Given the description of an element on the screen output the (x, y) to click on. 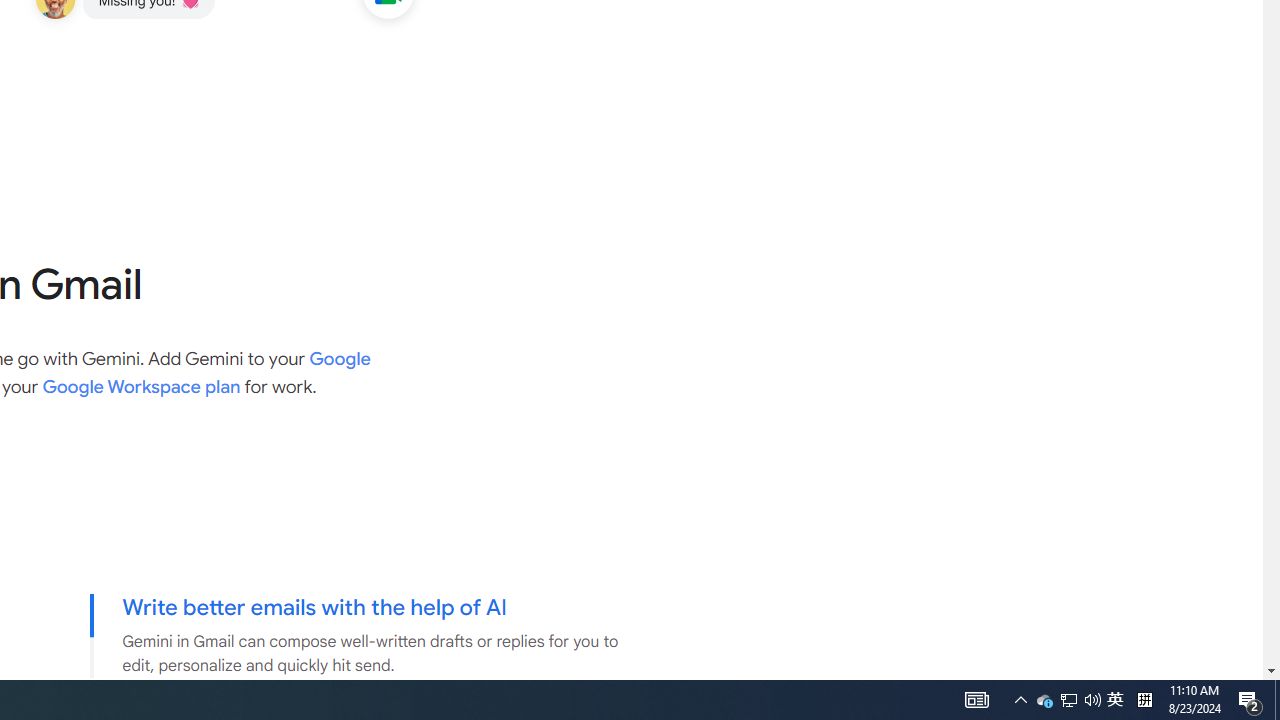
Google Workspace plan (141, 386)
